Given the description of an element on the screen output the (x, y) to click on. 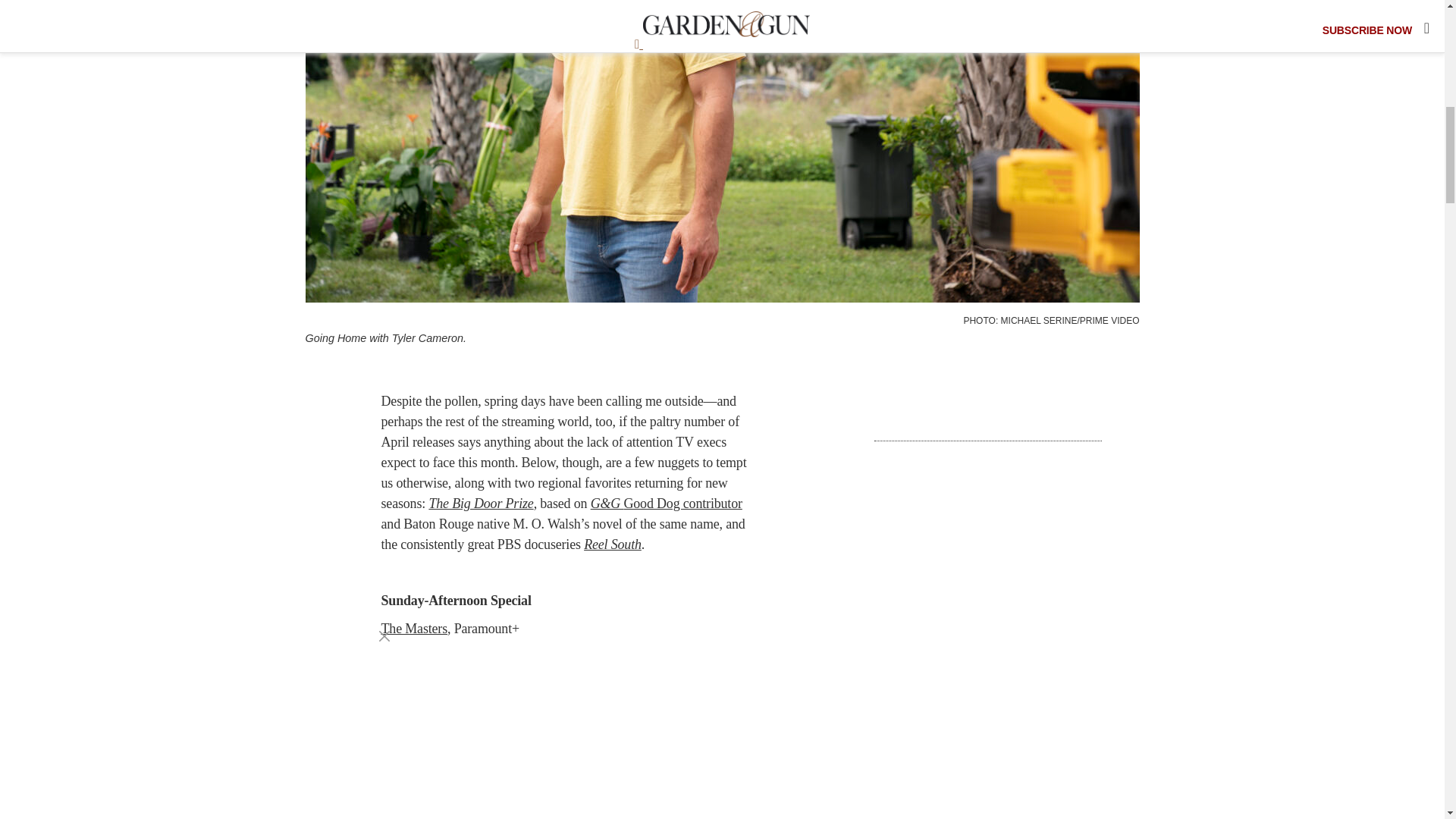
YouTube video player (570, 733)
